Given the description of an element on the screen output the (x, y) to click on. 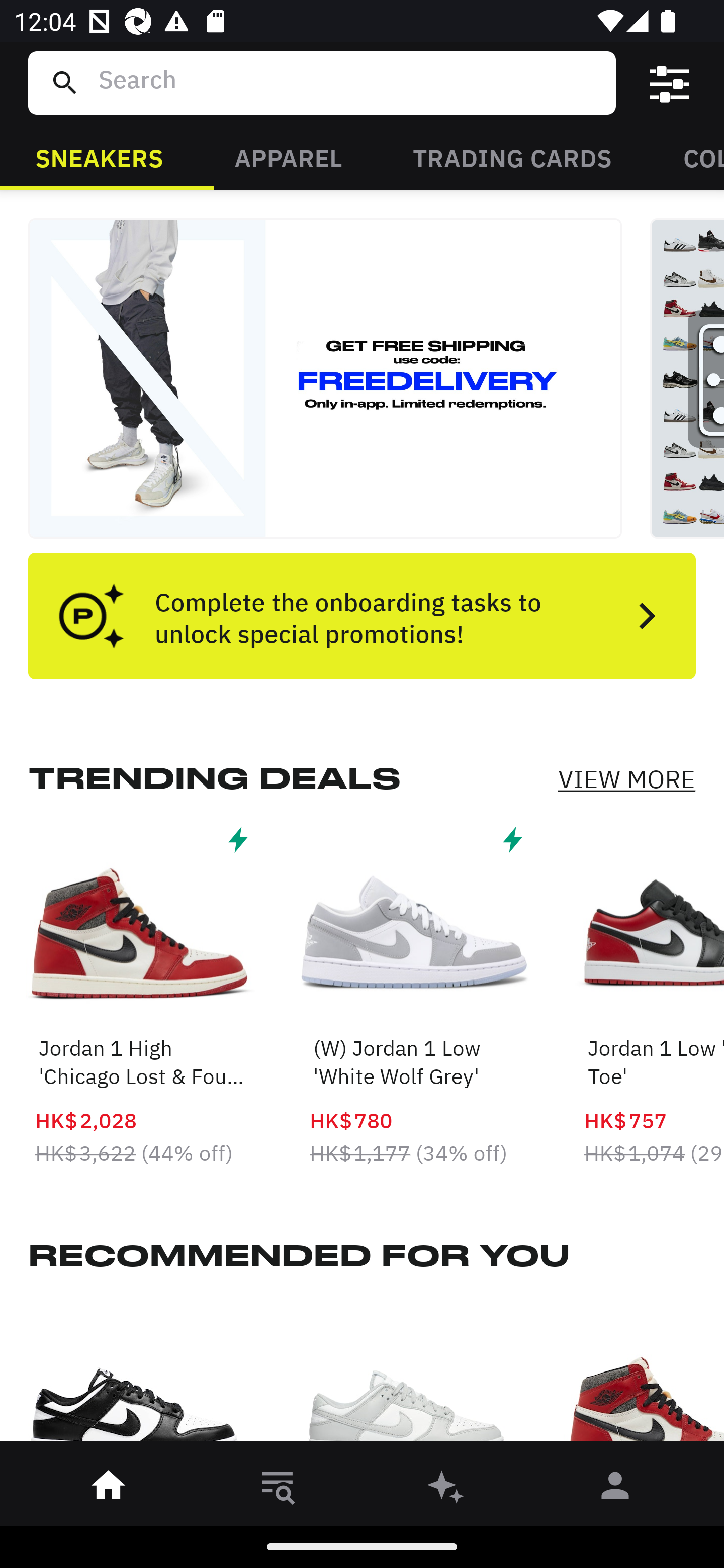
Search (349, 82)
 (669, 82)
SNEAKERS (99, 156)
APPAREL (287, 156)
TRADING CARDS (512, 156)
VIEW MORE (626, 779)
󰋜 (108, 1488)
󱎸 (277, 1488)
󰫢 (446, 1488)
󰀄 (615, 1488)
